Given the description of an element on the screen output the (x, y) to click on. 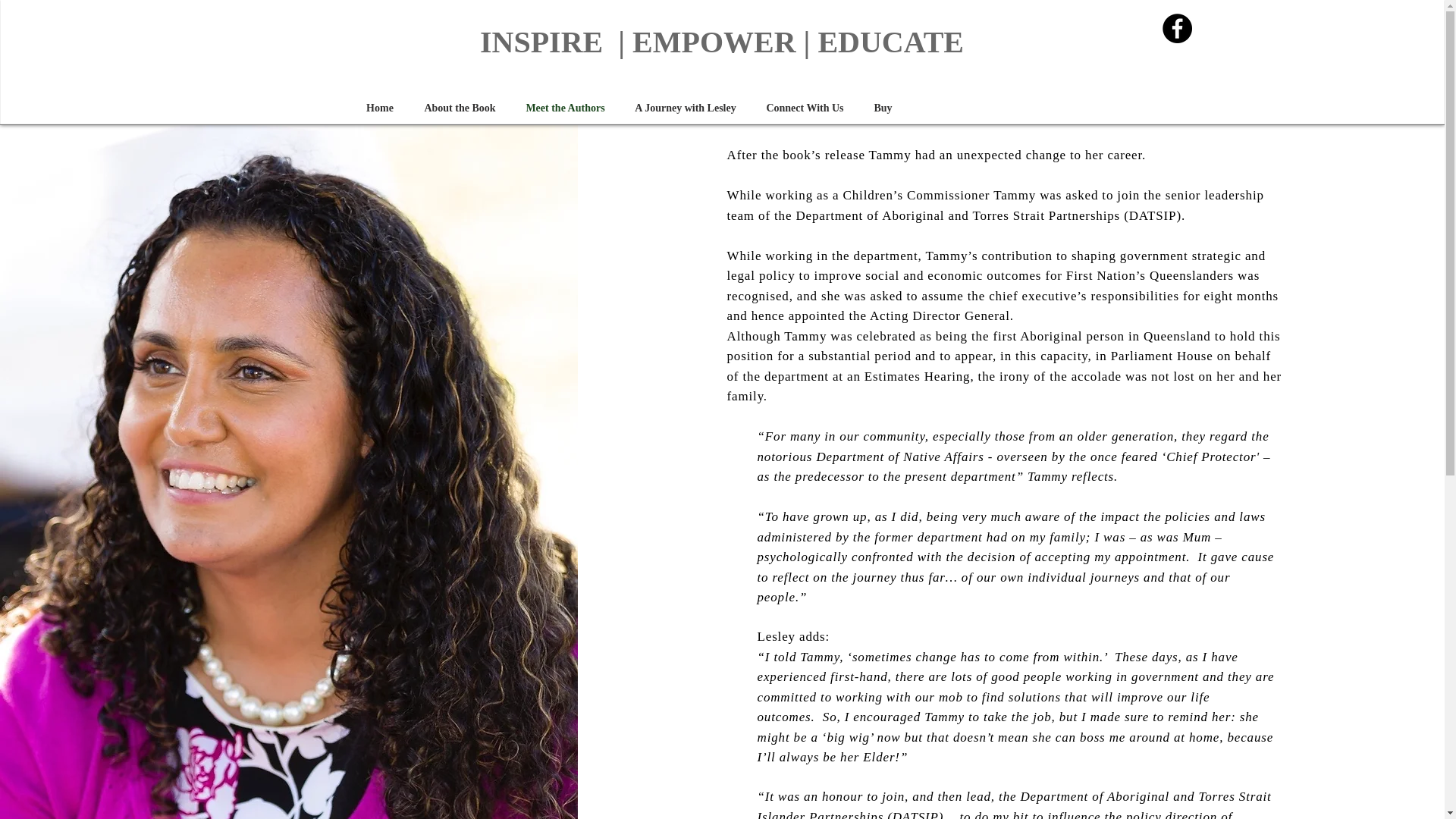
A Journey with Lesley Element type: text (685, 108)
Buy Element type: text (882, 108)
About the Book Element type: text (460, 108)
Connect With Us Element type: text (804, 108)
Home Element type: text (379, 108)
Meet the Authors Element type: text (565, 108)
